Given the description of an element on the screen output the (x, y) to click on. 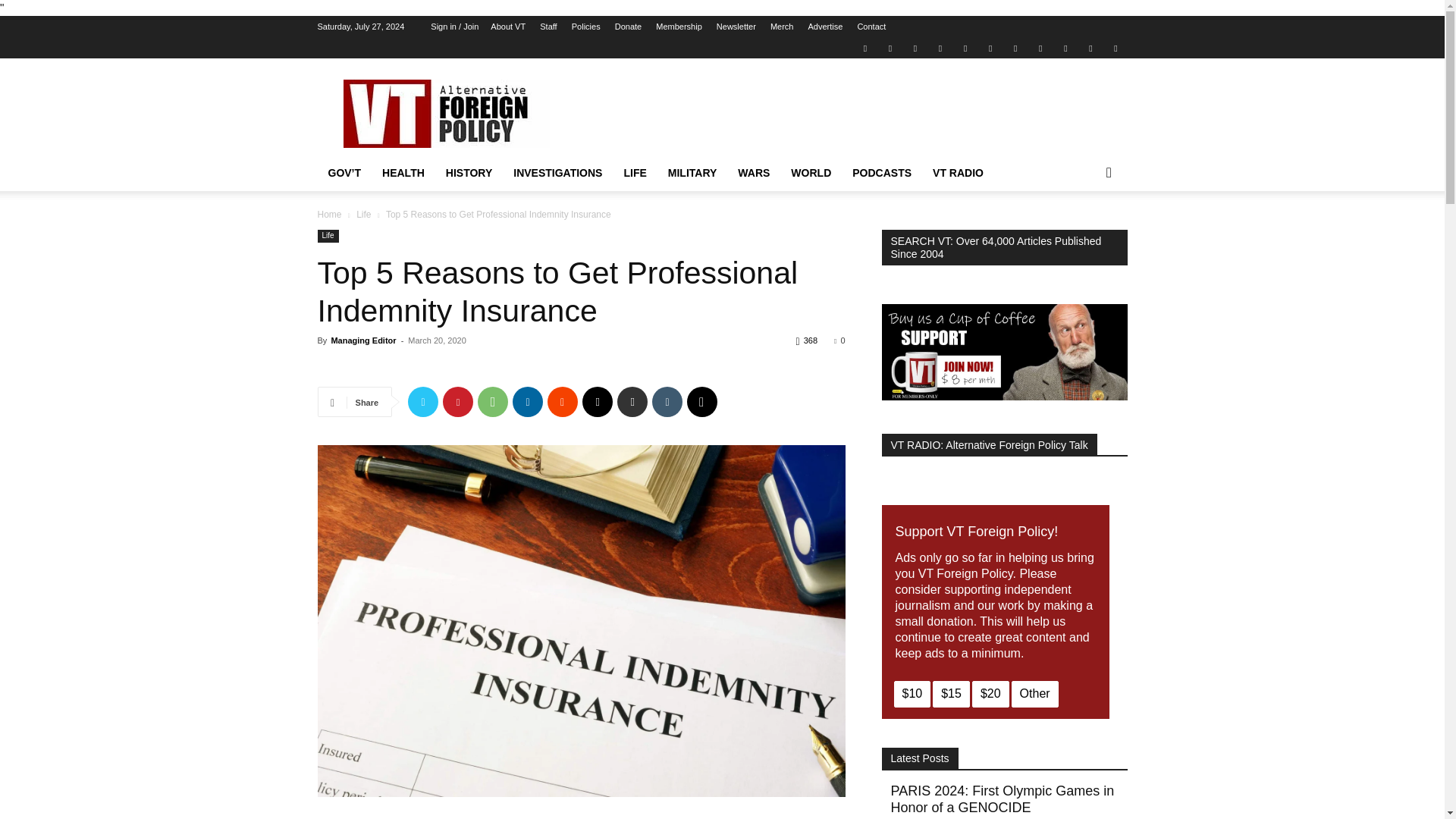
Advertise (825, 26)
RSS (989, 47)
Merch (781, 26)
Reddit (940, 47)
About VT (507, 26)
Blogger (864, 47)
Rumble (964, 47)
Membership (678, 26)
Contact (871, 26)
Staff (548, 26)
Facebook (890, 47)
Policies (585, 26)
Mail (915, 47)
Newsletter (735, 26)
Donate (628, 26)
